Given the description of an element on the screen output the (x, y) to click on. 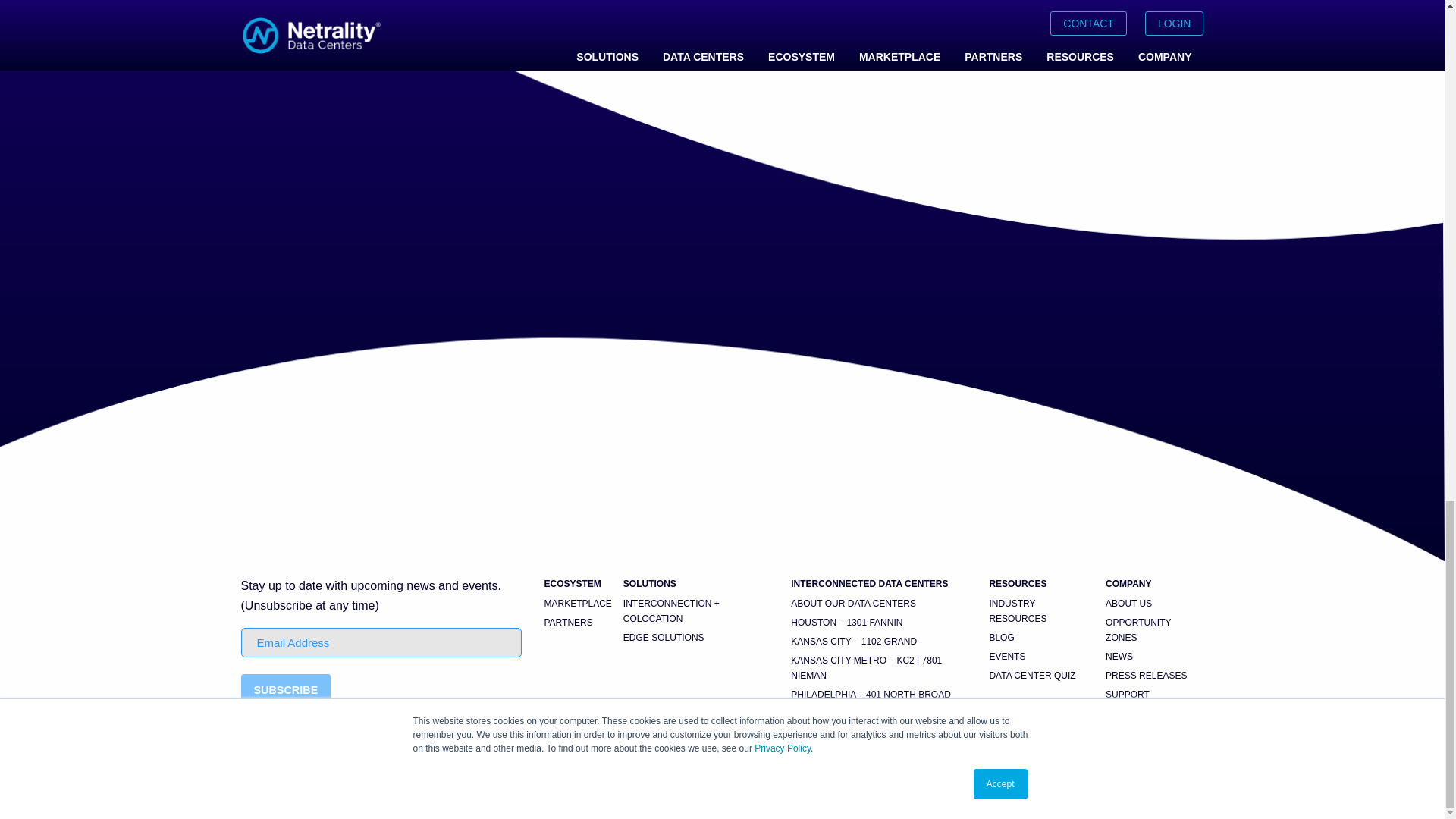
Subscribe (286, 690)
